Given the description of an element on the screen output the (x, y) to click on. 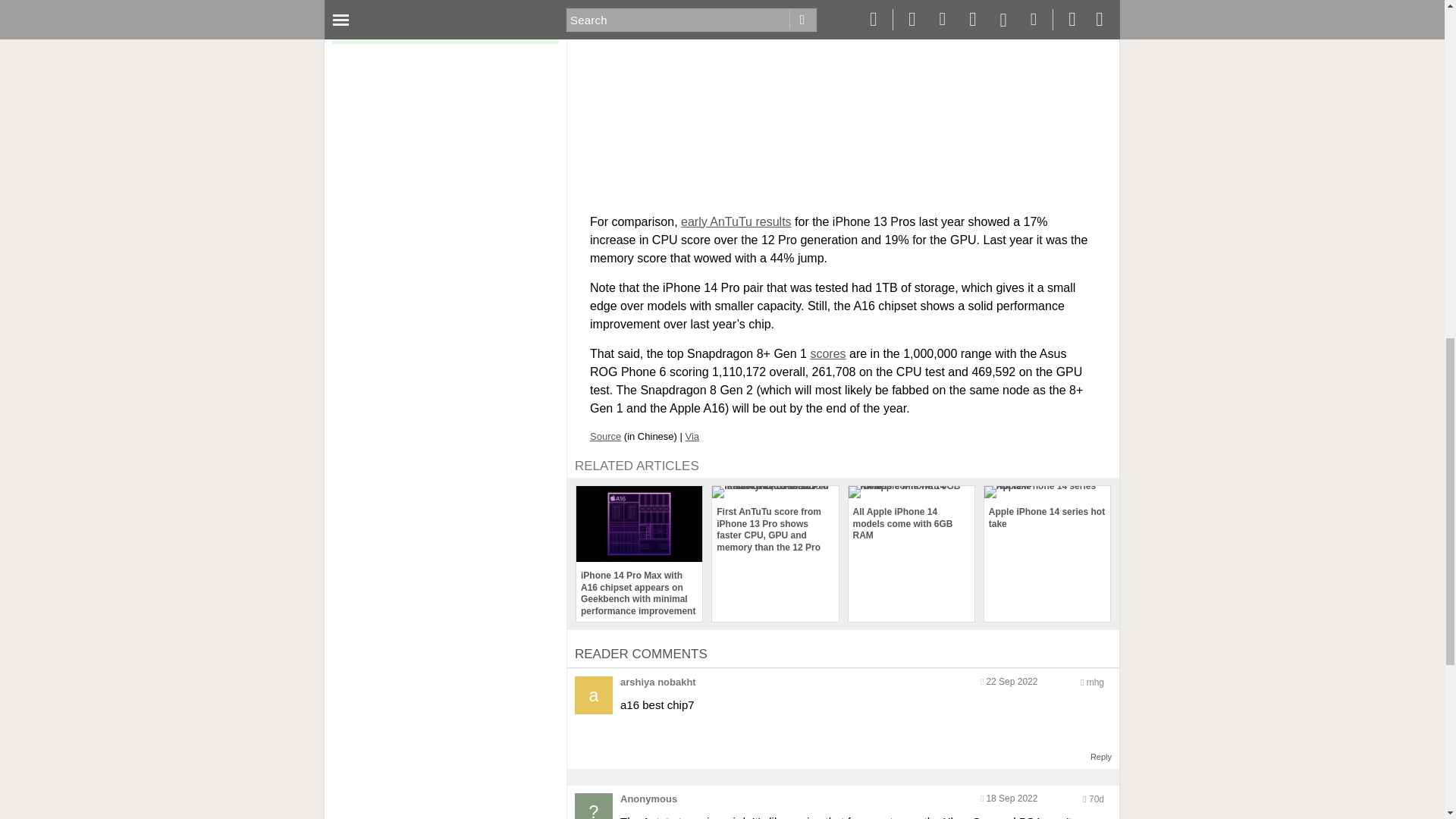
early AnTuTu results (736, 221)
Encoded anonymized location (1096, 798)
Encoded anonymized location (1094, 682)
Reply to this post (1101, 756)
